Given the description of an element on the screen output the (x, y) to click on. 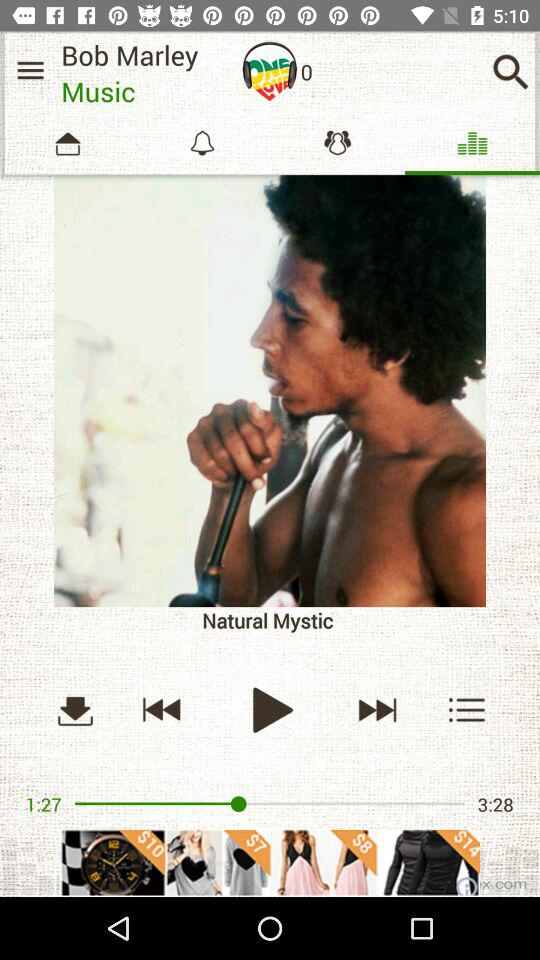
front button (376, 709)
